Given the description of an element on the screen output the (x, y) to click on. 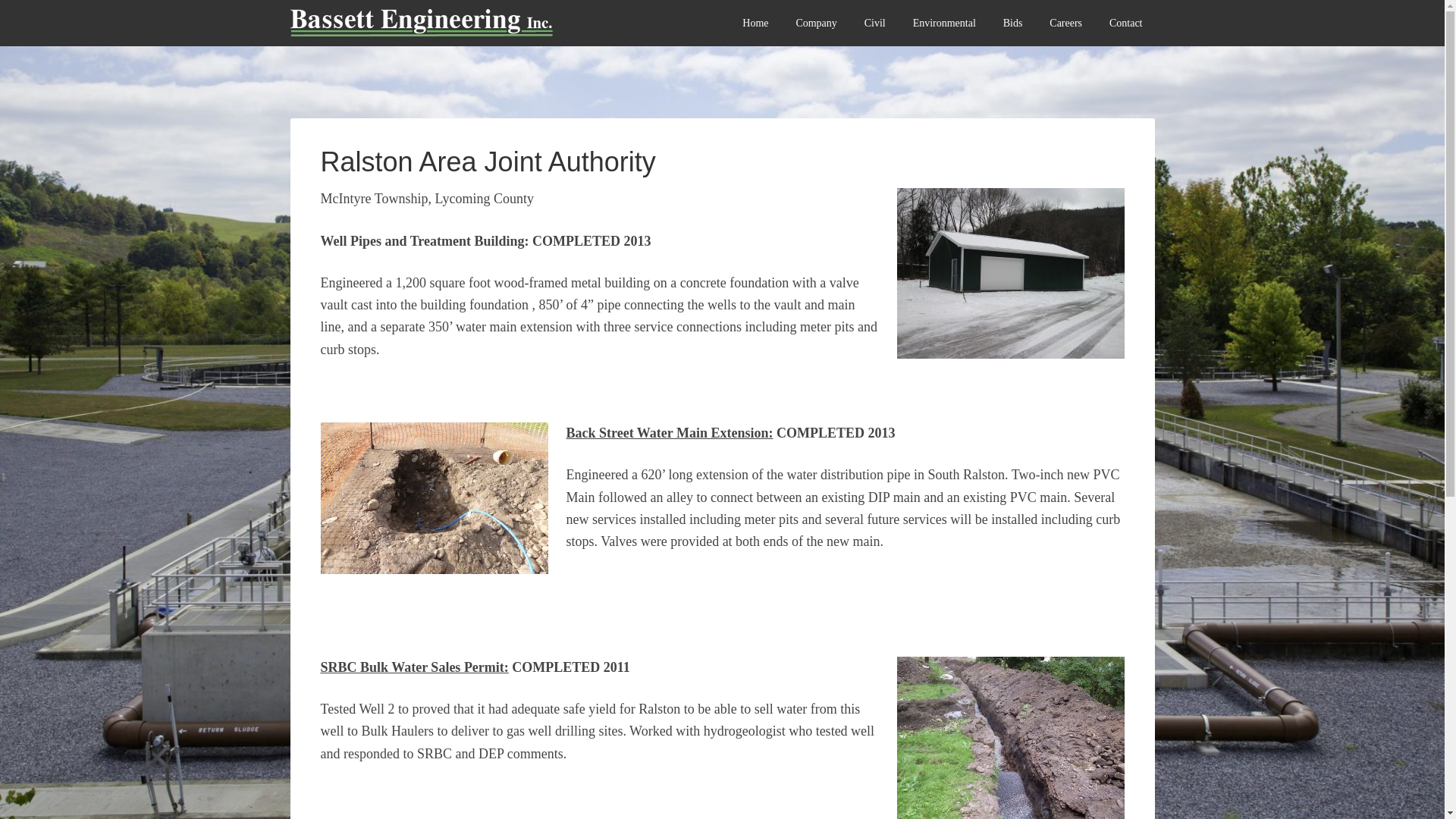
Contact (1125, 22)
Home (755, 22)
Bids (1013, 22)
Civil (874, 22)
BASSETT ENGINEERING (459, 30)
Careers (1065, 22)
Environmental (944, 22)
Company (815, 22)
